Given the description of an element on the screen output the (x, y) to click on. 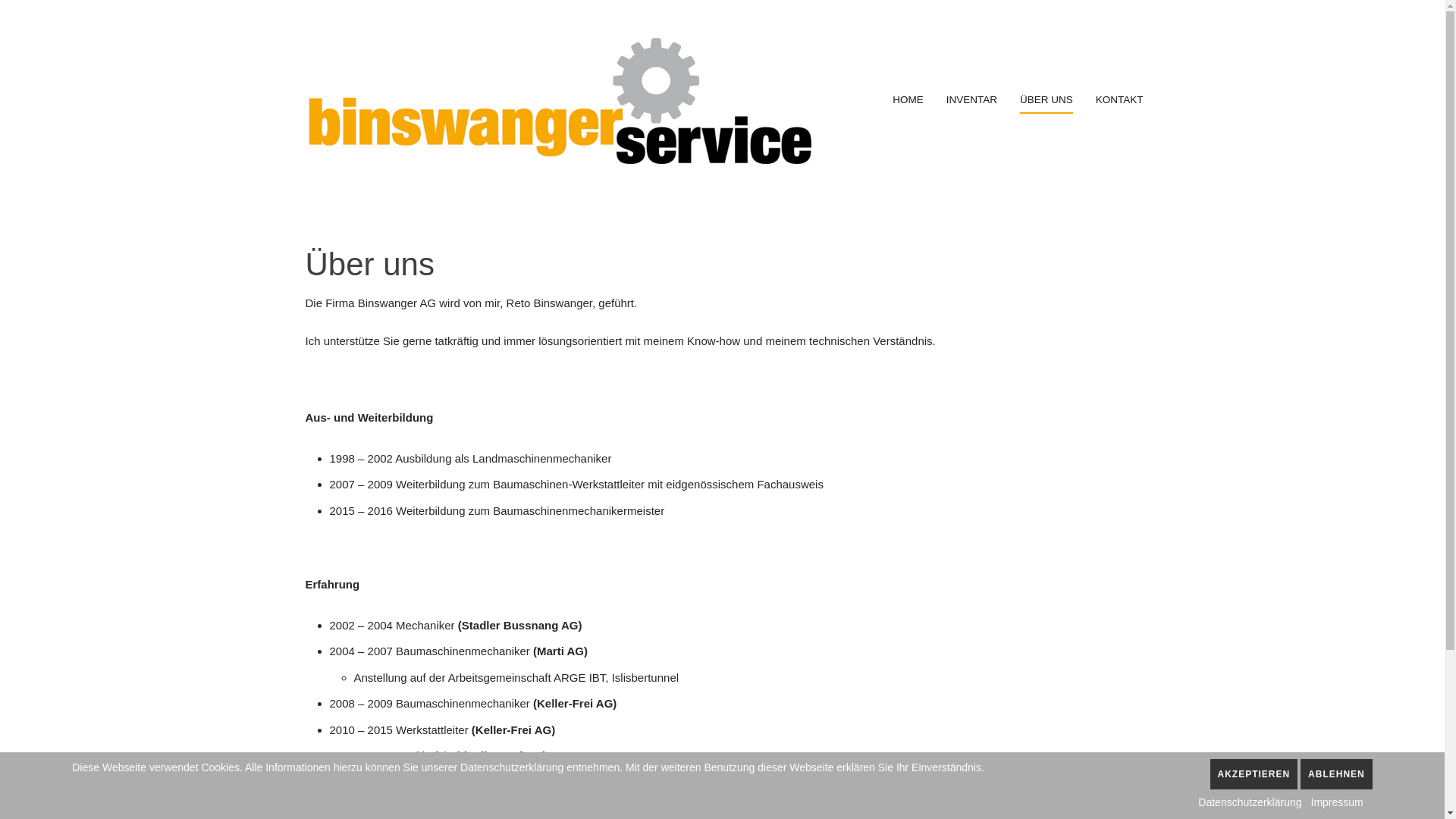
INVENTAR Element type: text (971, 99)
ABLEHNEN Element type: text (1336, 774)
KONTAKT Element type: text (1119, 99)
AKZEPTIEREN Element type: text (1254, 774)
Impressum Element type: text (1337, 802)
Binswanger AG, Flaach Element type: hover (557, 99)
HOME Element type: text (907, 99)
